Given the description of an element on the screen output the (x, y) to click on. 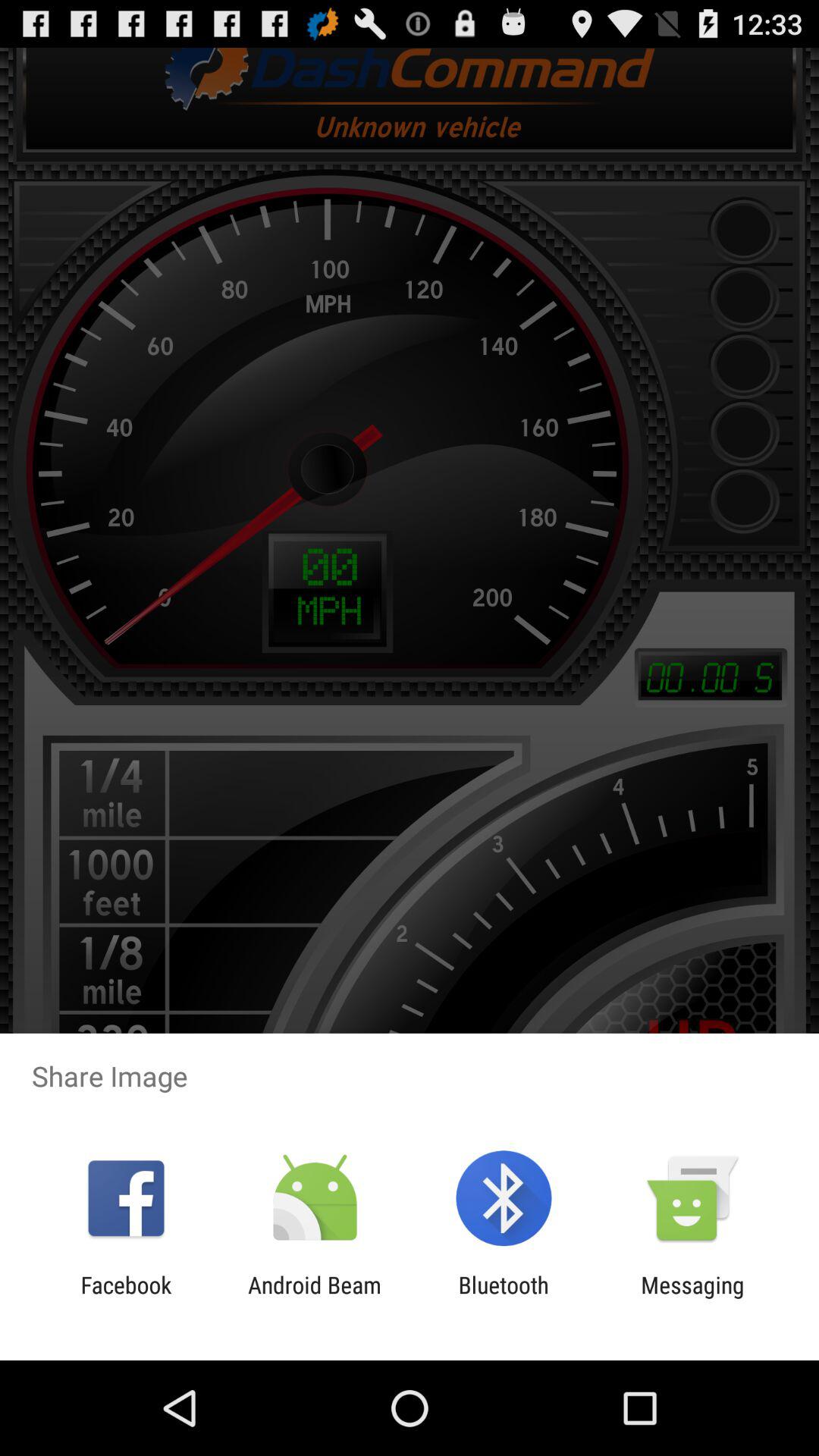
scroll to the messaging item (692, 1298)
